Given the description of an element on the screen output the (x, y) to click on. 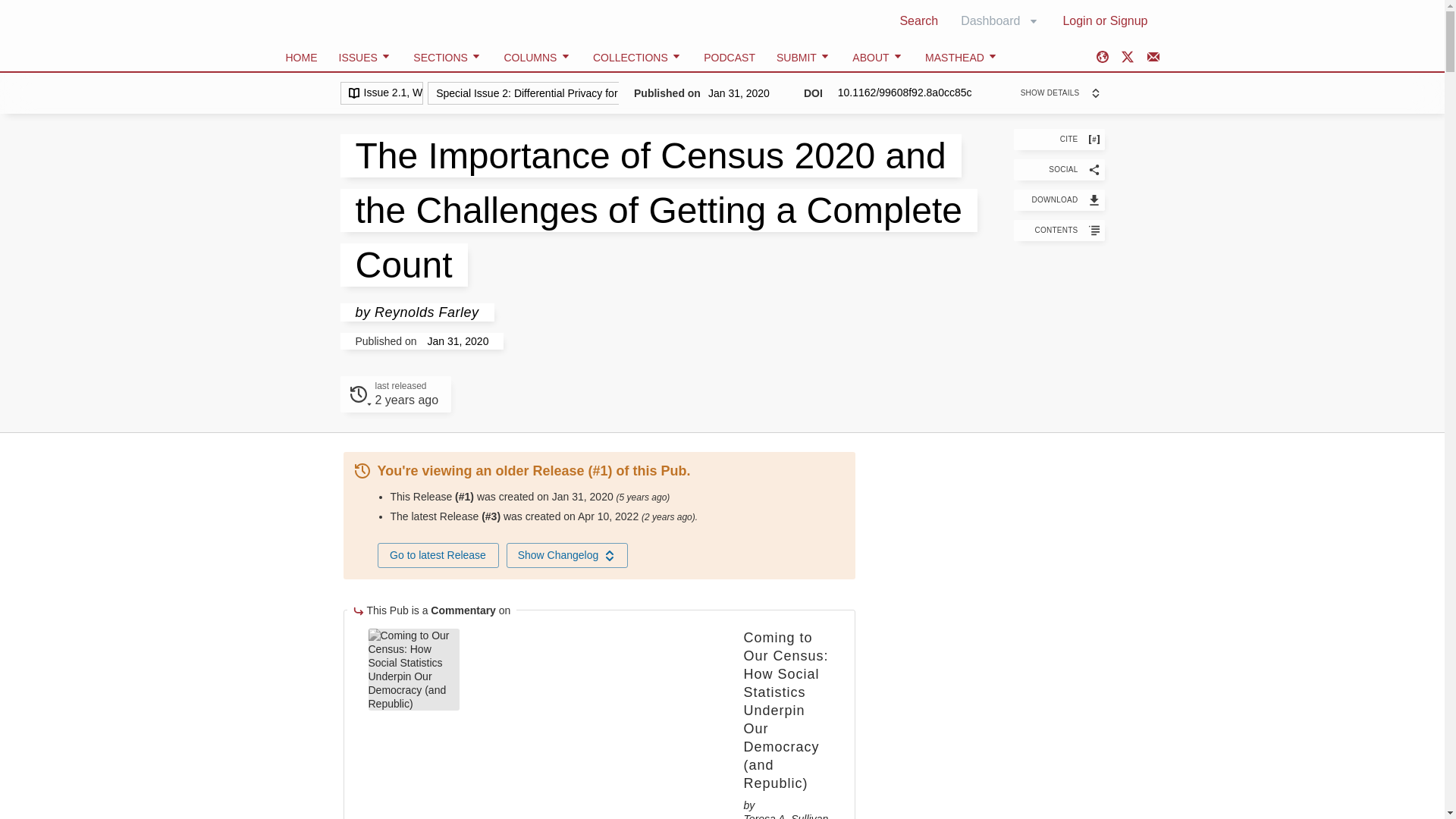
Show Changelog (395, 393)
PODCAST (566, 555)
Dashboard (729, 57)
2022-04-10 23:10 (1000, 20)
SOCIAL (406, 399)
2020-01-31 17:33 (1058, 169)
Issue 2.1, Winter 2020 (643, 497)
Go to latest Release (381, 92)
